Given the description of an element on the screen output the (x, y) to click on. 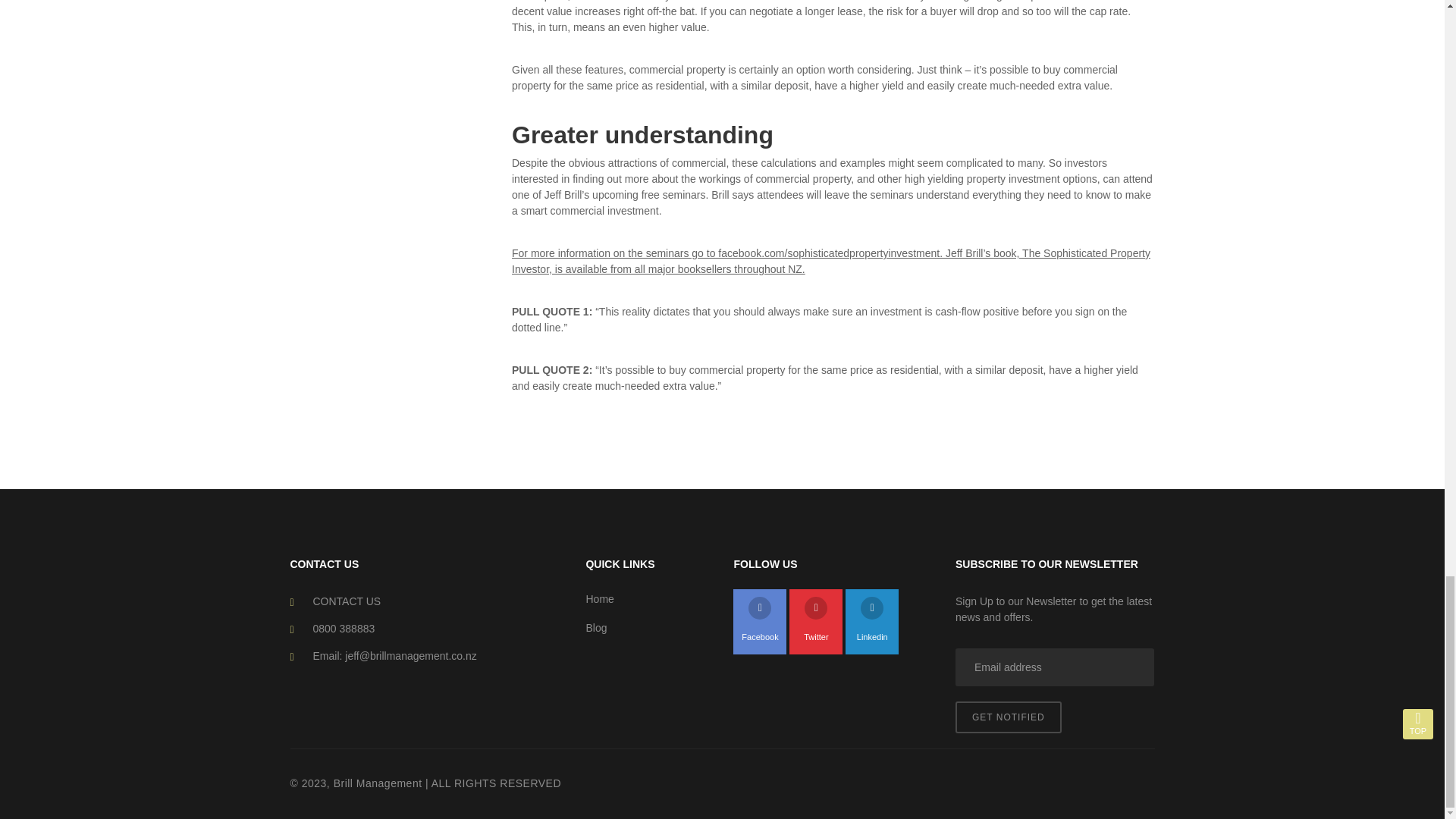
Blog (647, 628)
GET NOTIFIED (1008, 717)
0800 388883 (343, 628)
Home (647, 598)
